Given the description of an element on the screen output the (x, y) to click on. 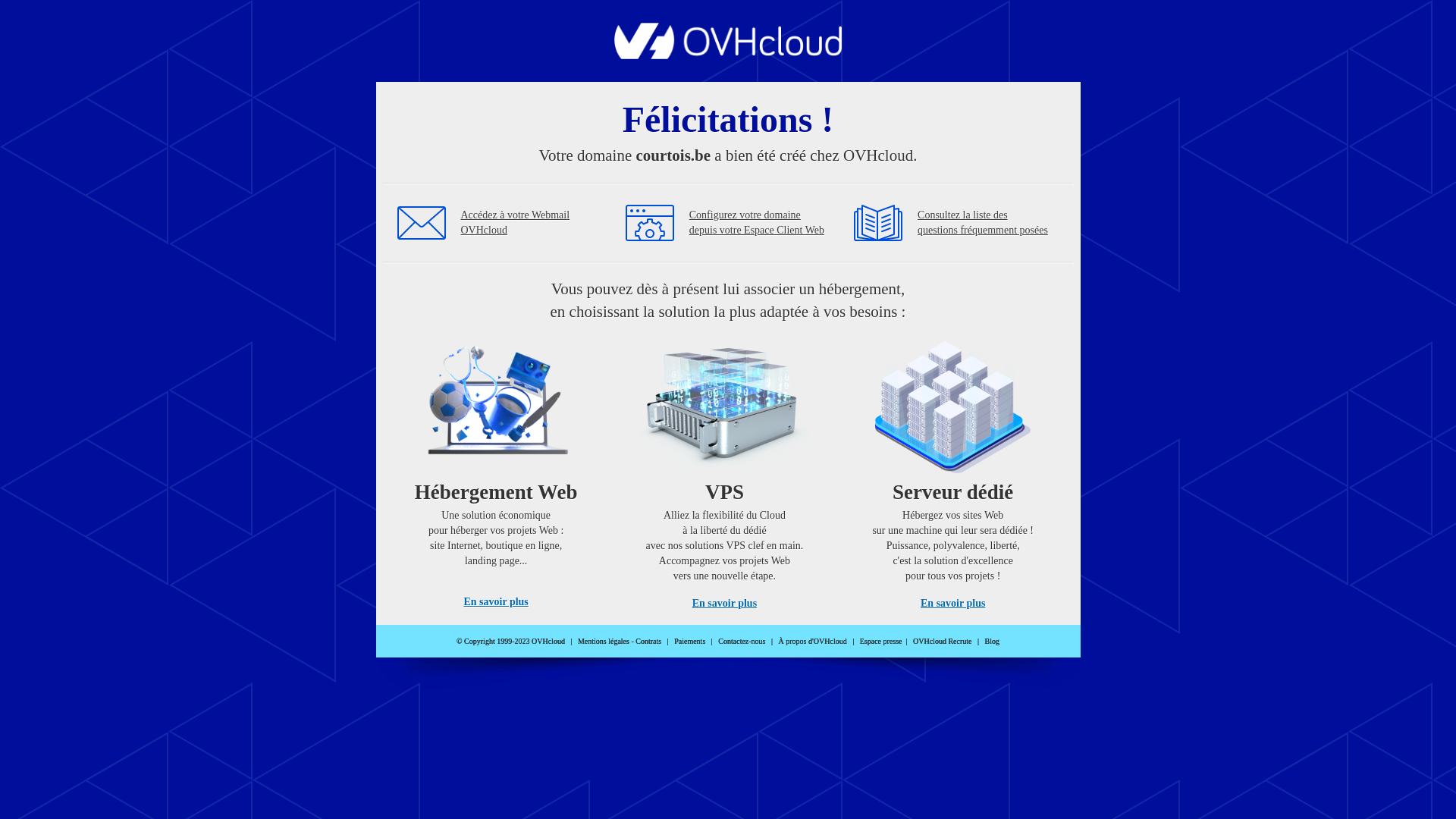
Espace presse Element type: text (880, 641)
Contactez-nous Element type: text (741, 641)
OVHcloud Recrute Element type: text (942, 641)
Configurez votre domaine
depuis votre Espace Client Web Element type: text (756, 222)
En savoir plus Element type: text (952, 602)
En savoir plus Element type: text (495, 601)
Blog Element type: text (992, 641)
VPS Element type: hover (724, 469)
OVHcloud Element type: hover (727, 54)
En savoir plus Element type: text (724, 602)
Paiements Element type: text (689, 641)
